Given the description of an element on the screen output the (x, y) to click on. 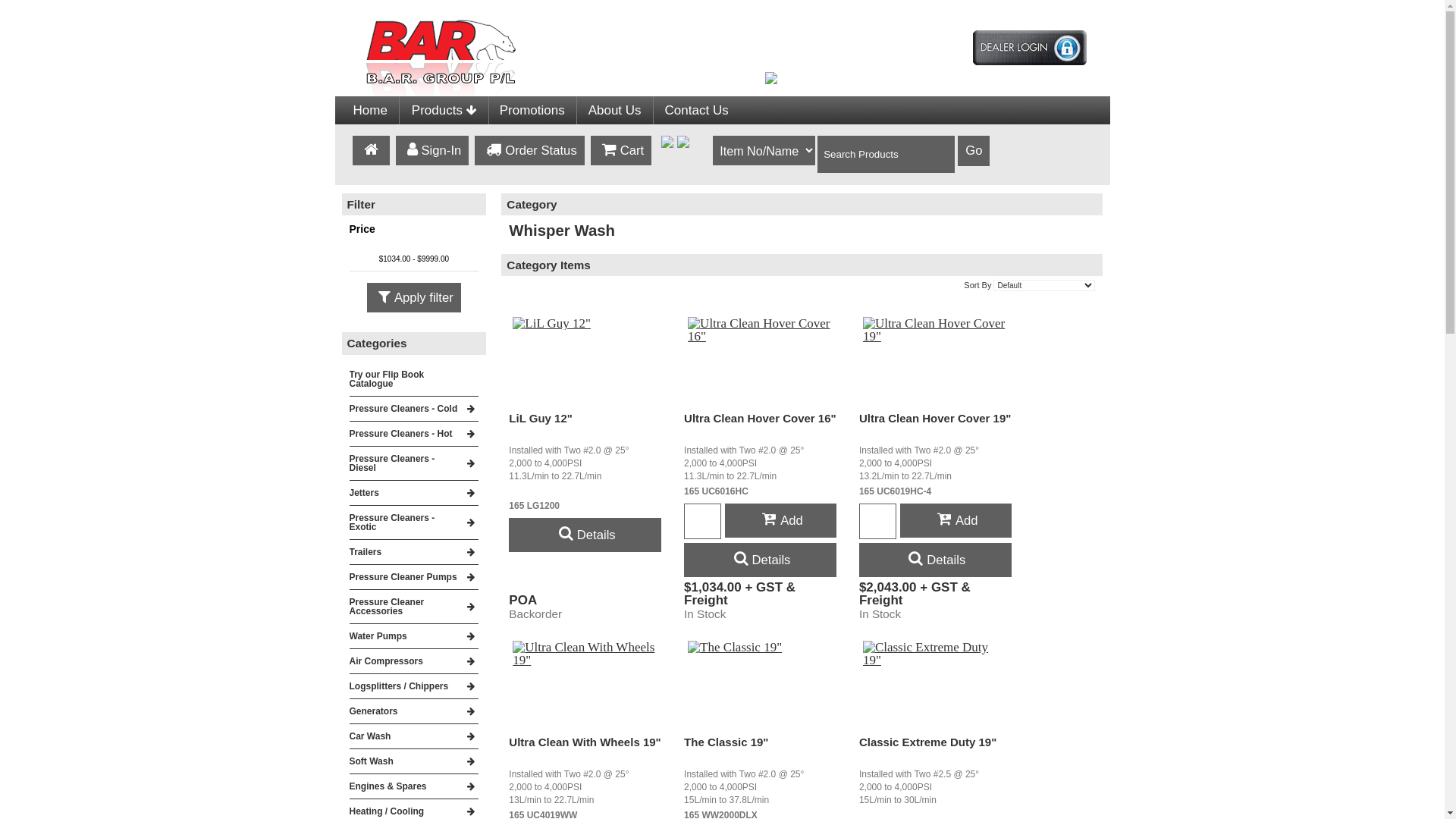
Powerease Element type: text (602, 191)
Pumps, Unloaders, Clutches & Hydraulic Kits Element type: text (602, 158)
Contact Us Element type: text (696, 110)
About Us Element type: text (614, 110)
Pressure Cleaner Pumps Element type: text (413, 576)
Pressure Cleaners - Diesel Element type: text (413, 463)
Car Wash Element type: text (602, 129)
LiL Guy 12" Element type: text (540, 417)
Apply filter Element type: text (414, 297)
Foaming Chemicals and Equipment Element type: text (444, 137)
Details Element type: text (935, 559)
Cart Element type: text (620, 150)
Generators Element type: text (413, 711)
Jetters Element type: text (413, 492)
Try our Flip Book Catalogue Element type: text (413, 378)
Try our Flip Book Catalogue Element type: text (444, 130)
Honda Element type: text (602, 135)
Engines & Spares Element type: text (413, 786)
Ultra Clean Hover Cover 19" Element type: text (935, 417)
Air Compressors Element type: text (413, 661)
Dealer Login Element type: hover (1028, 48)
Water Tanks - Frames & Car Wash Booms Element type: text (602, 152)
Promotions Element type: text (531, 110)
Details Element type: text (760, 559)
Order Status Element type: text (528, 150)
Add Element type: text (955, 520)
Pressure Cleaners - Cold Element type: text (413, 408)
Car Wash Element type: text (413, 736)
Pressure Cleaners - Exotic Element type: text (413, 522)
Water Pumps Element type: text (413, 636)
Pressure Cleaner Accessories Element type: text (413, 606)
Pressure Cleaners - Hot Element type: text (413, 433)
Ultra Clean Hover Cover 16" Element type: text (760, 417)
Home Element type: text (370, 110)
Logsplitters / Chippers Element type: text (413, 686)
Add Element type: text (780, 520)
Trailers Element type: text (413, 551)
Hot Water Engine Drive Element type: text (602, 141)
Classic Extreme Duty 19" Element type: text (927, 741)
The Classic 19" Element type: text (726, 741)
Sign-In Element type: text (432, 150)
Products Element type: text (443, 110)
Soft Wash Element type: text (413, 761)
Go Element type: text (973, 150)
Details Element type: text (584, 534)
Pressure Washer Bargains Element type: text (602, 146)
Ultra Clean With Wheels 19" Element type: text (584, 741)
